Given the description of an element on the screen output the (x, y) to click on. 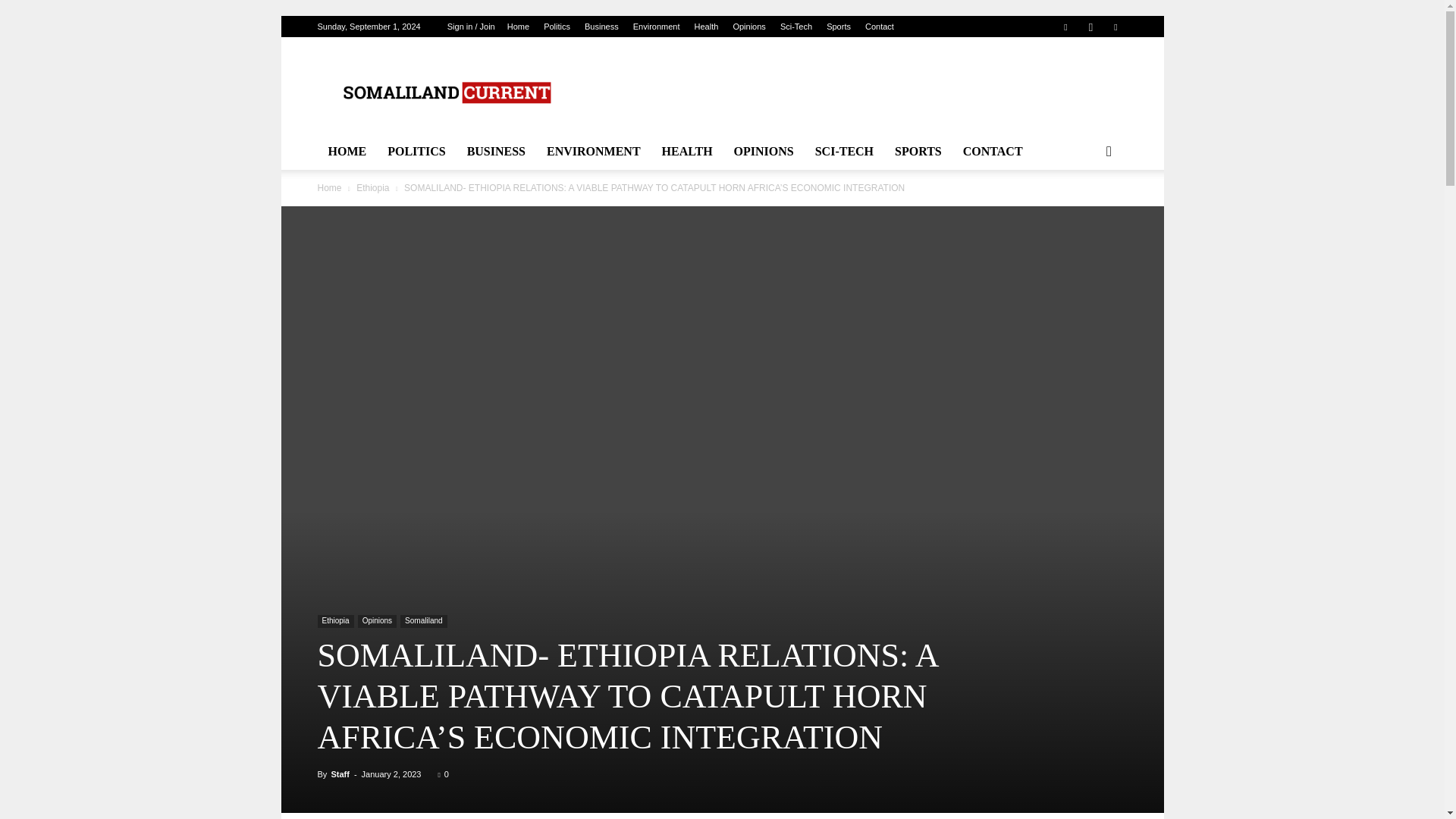
Twitter (1114, 25)
Home (517, 26)
View all posts in Ethiopia (372, 187)
somalilandcurrent.com logo (445, 92)
Instagram (1090, 25)
Politics (556, 26)
Facebook (1065, 25)
